Given the description of an element on the screen output the (x, y) to click on. 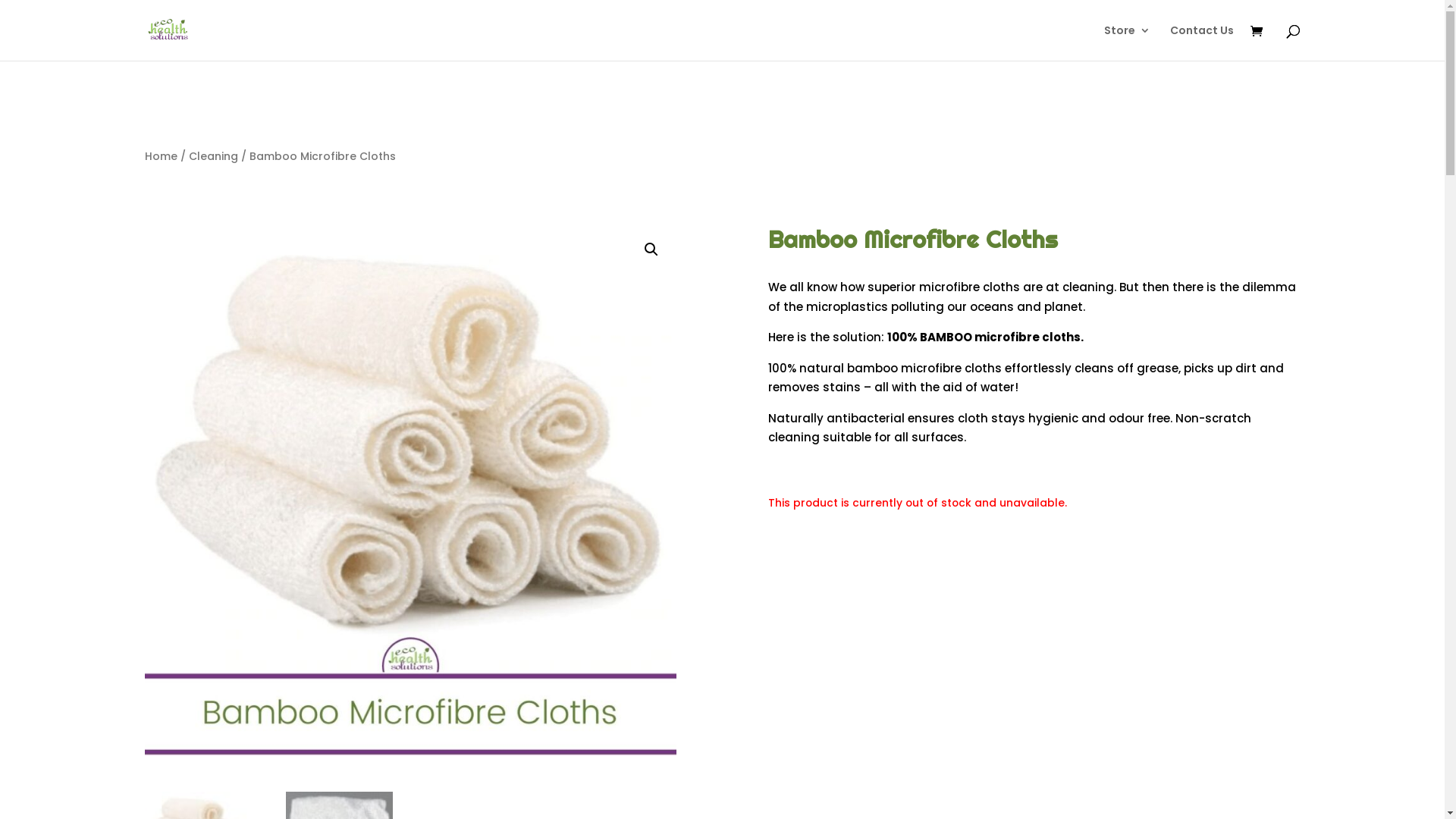
Cleaning Element type: text (212, 155)
Store Element type: text (1127, 42)
Home Element type: text (160, 155)
Bamboo Microfibre Cloths 10-pack Element type: hover (409, 490)
Bamboo Microfibre Cloths 10-pack 2 Element type: hover (942, 490)
Contact Us Element type: text (1201, 42)
